Given the description of an element on the screen output the (x, y) to click on. 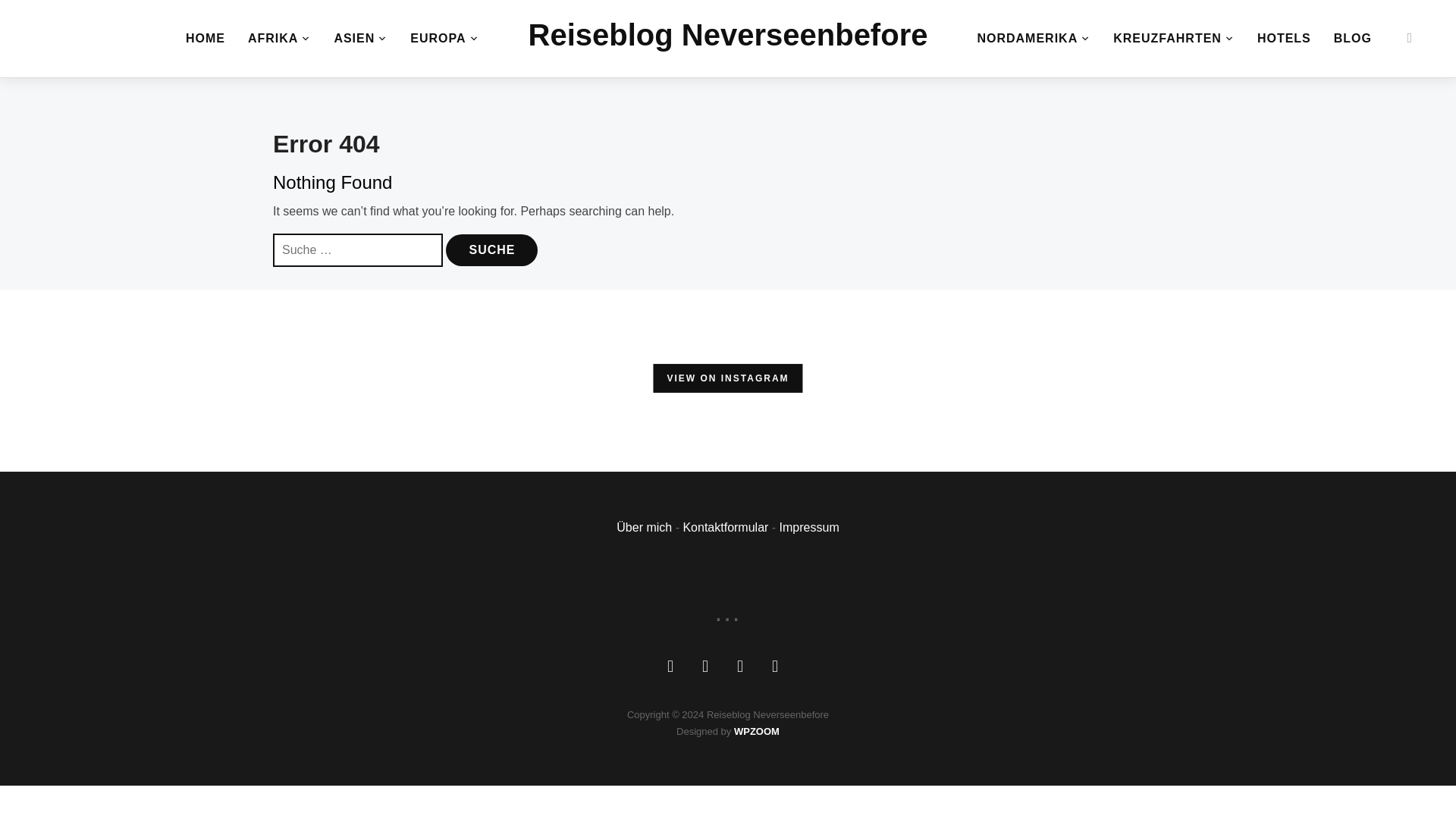
AFRIKA (279, 38)
ASIEN (360, 38)
EUROPA (444, 38)
NORDAMERIKA (1033, 38)
HOME (205, 38)
Reiseblog Neverseenbefore (728, 34)
Suche (491, 250)
Suche (491, 250)
